Given the description of an element on the screen output the (x, y) to click on. 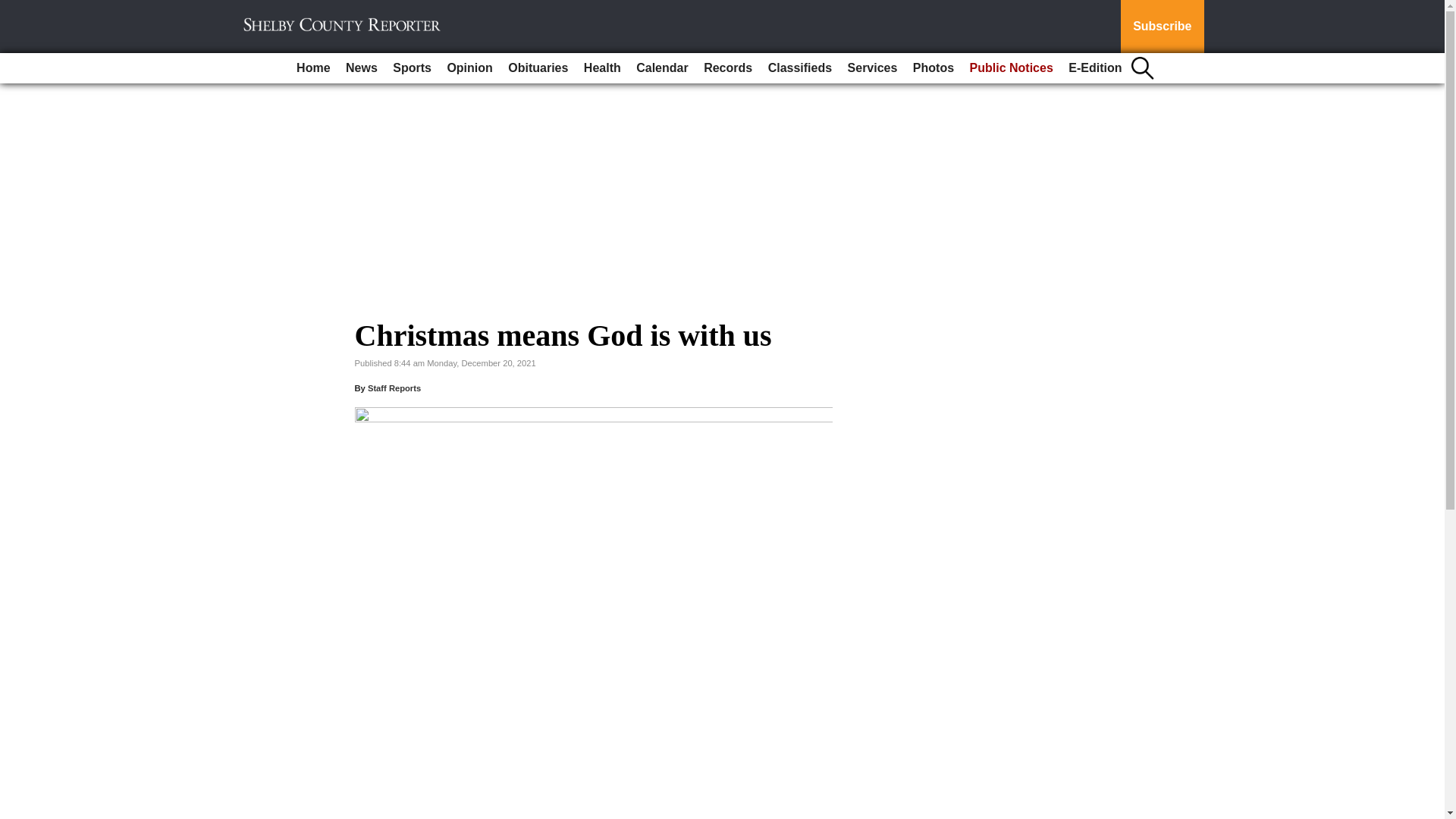
Records (727, 68)
Home (312, 68)
Classifieds (799, 68)
News (361, 68)
Sports (412, 68)
Opinion (469, 68)
Subscribe (1162, 26)
Obituaries (537, 68)
Services (872, 68)
Health (602, 68)
